Given the description of an element on the screen output the (x, y) to click on. 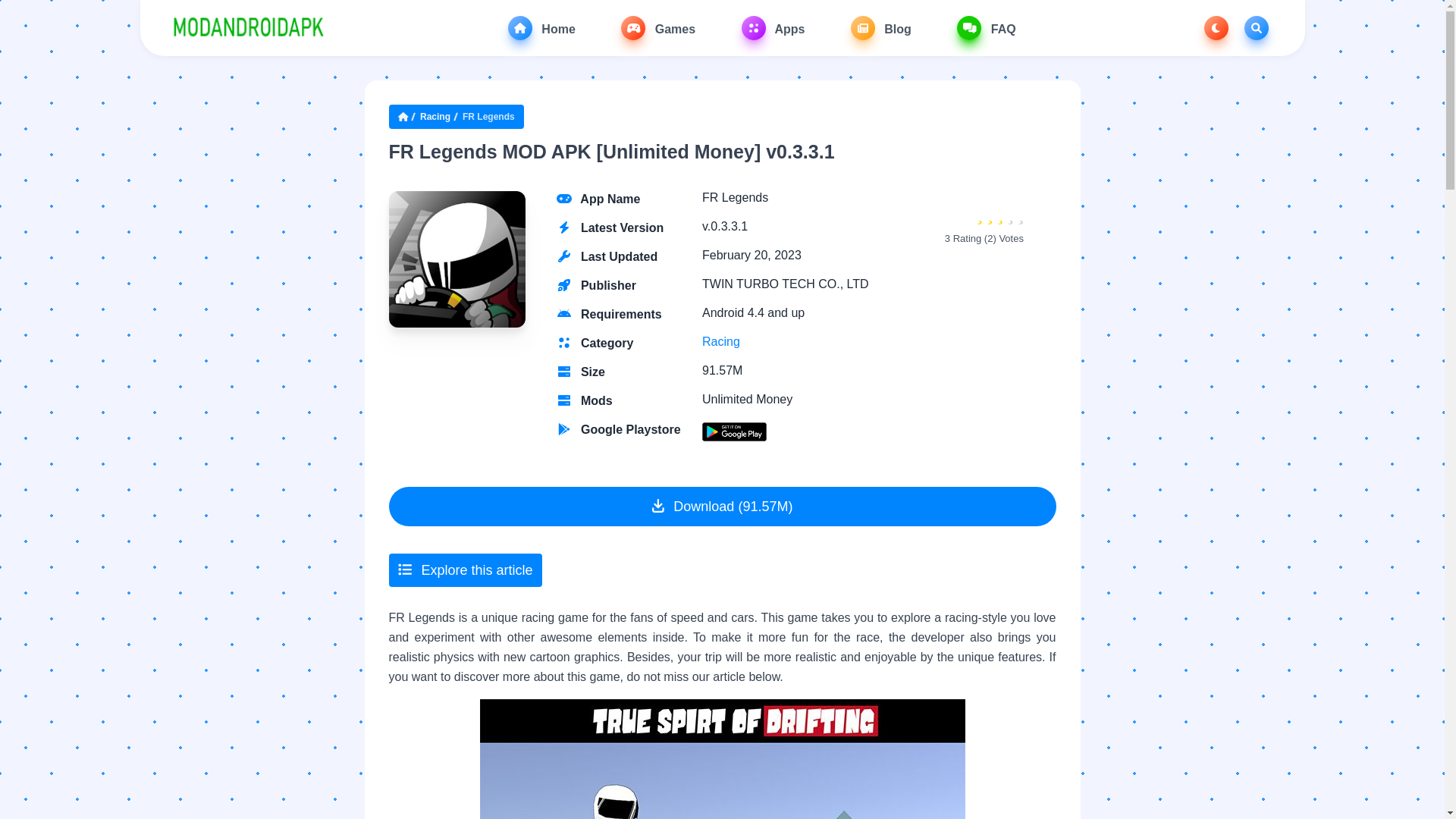
Explore this article (464, 570)
Search (1255, 27)
Apps (773, 27)
Games (658, 27)
Racing (720, 341)
Blog (880, 27)
Home (541, 27)
FAQ (985, 27)
Racing (435, 116)
Dark Mode (1216, 27)
